Given the description of an element on the screen output the (x, y) to click on. 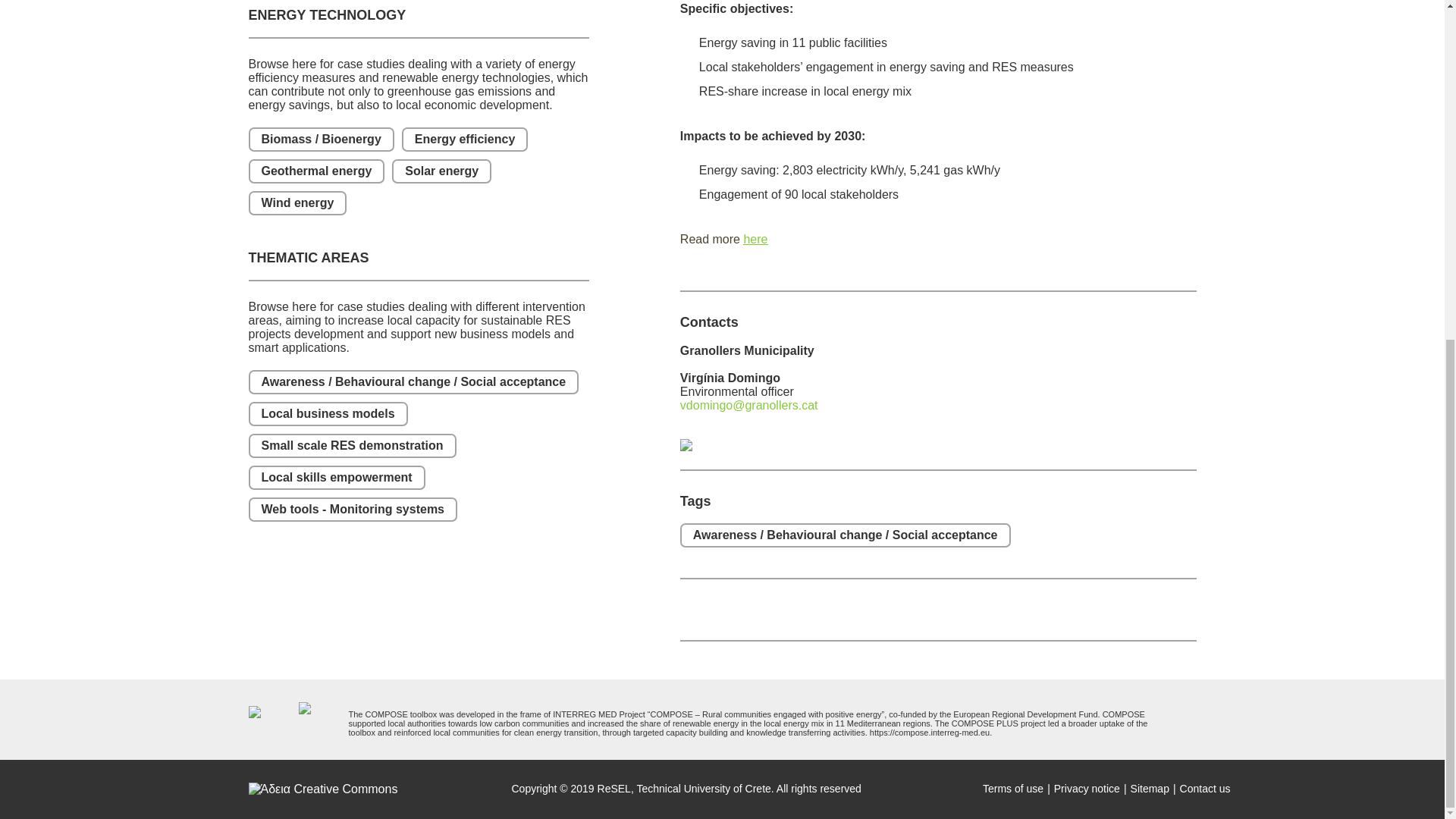
Wind energy (297, 202)
here (754, 238)
Local business models (327, 413)
Local skills empowerment (336, 477)
Solar energy (441, 170)
Web tools - Monitoring systems (353, 509)
Energy efficiency (464, 139)
Geothermal energy (316, 170)
Small scale RES demonstration (352, 445)
